Given the description of an element on the screen output the (x, y) to click on. 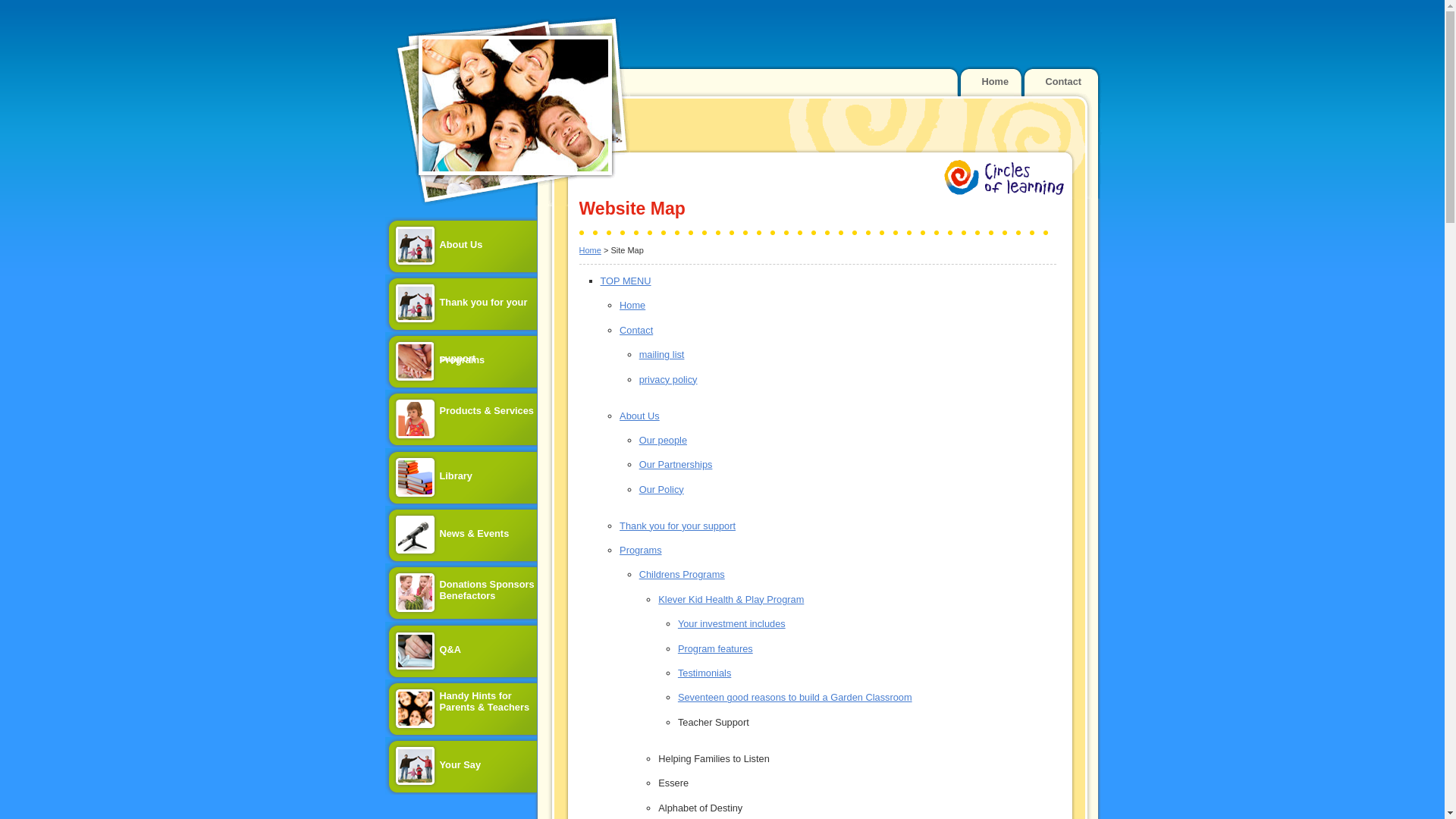
About Us Element type: text (460, 245)
Our Partnerships Element type: text (675, 464)
Childrens Programs Element type: text (681, 574)
Donations Sponsors Benefactors Element type: text (460, 592)
Programs Element type: text (640, 549)
Program features Element type: text (715, 648)
About Us Element type: text (639, 415)
Seventeen good reasons to build a Garden Classroom Element type: text (794, 696)
Library Element type: text (460, 476)
Your Say Element type: text (460, 765)
Q&A Element type: text (460, 650)
Contact Element type: text (1062, 81)
Contact Element type: text (635, 329)
mailing list Element type: text (661, 354)
Home Element type: text (632, 304)
Products & Services Element type: text (460, 418)
Klever Kid Health & Play Program Element type: text (730, 599)
Programs Element type: text (460, 360)
News & Events Element type: text (460, 534)
Handy Hints for Parents & Teachers Element type: text (460, 708)
Testimonials Element type: text (704, 672)
Home Element type: text (590, 249)
privacy policy Element type: text (668, 379)
Thank you for your support Element type: text (460, 303)
Your investment includes Element type: text (731, 623)
Our people Element type: text (663, 439)
TOP MENU Element type: text (625, 280)
Home Element type: text (995, 81)
Our Policy Element type: text (661, 489)
Thank you for your support Element type: text (677, 525)
